Given the description of an element on the screen output the (x, y) to click on. 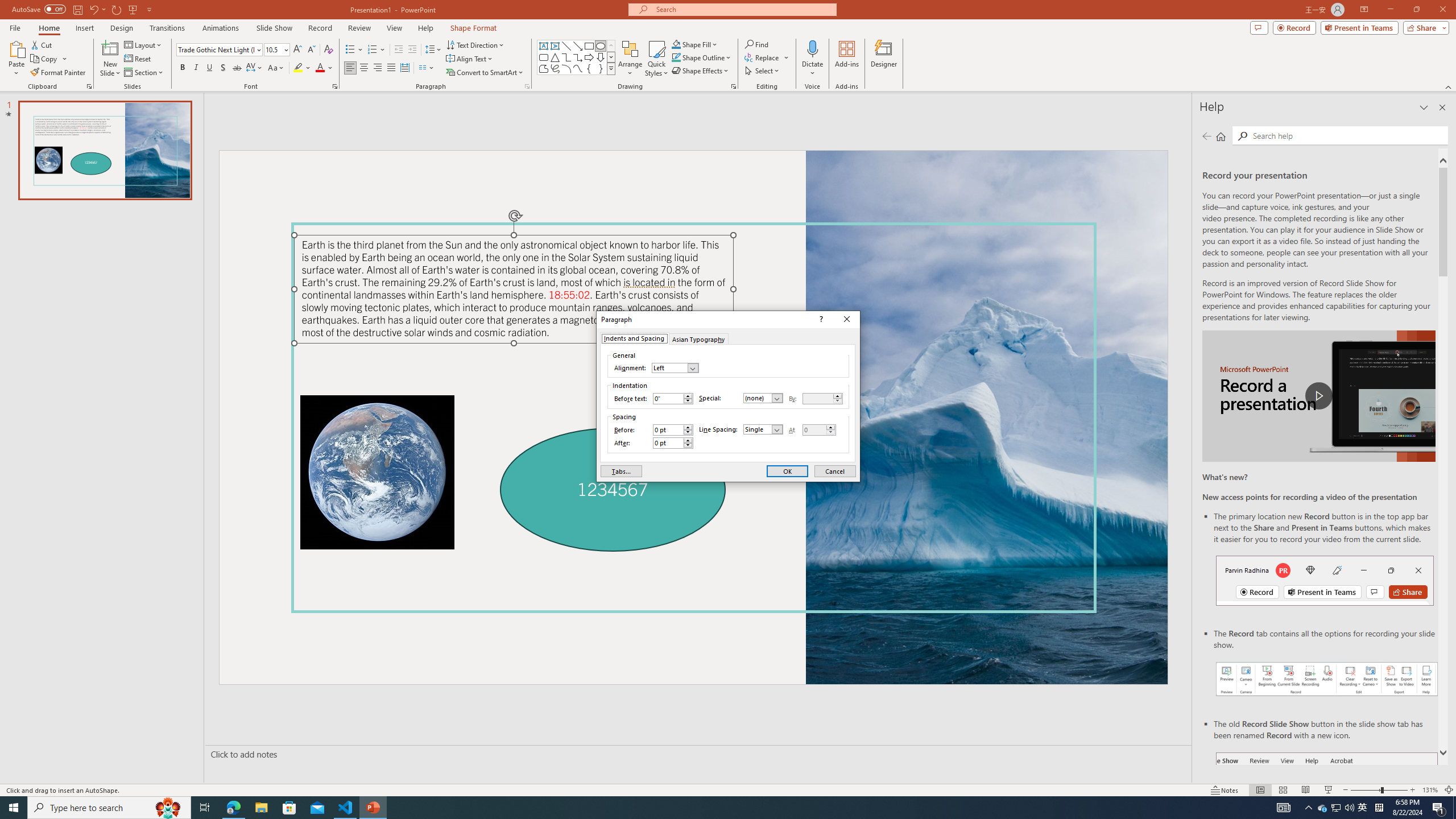
By (817, 398)
Before text (667, 398)
